Given the description of an element on the screen output the (x, y) to click on. 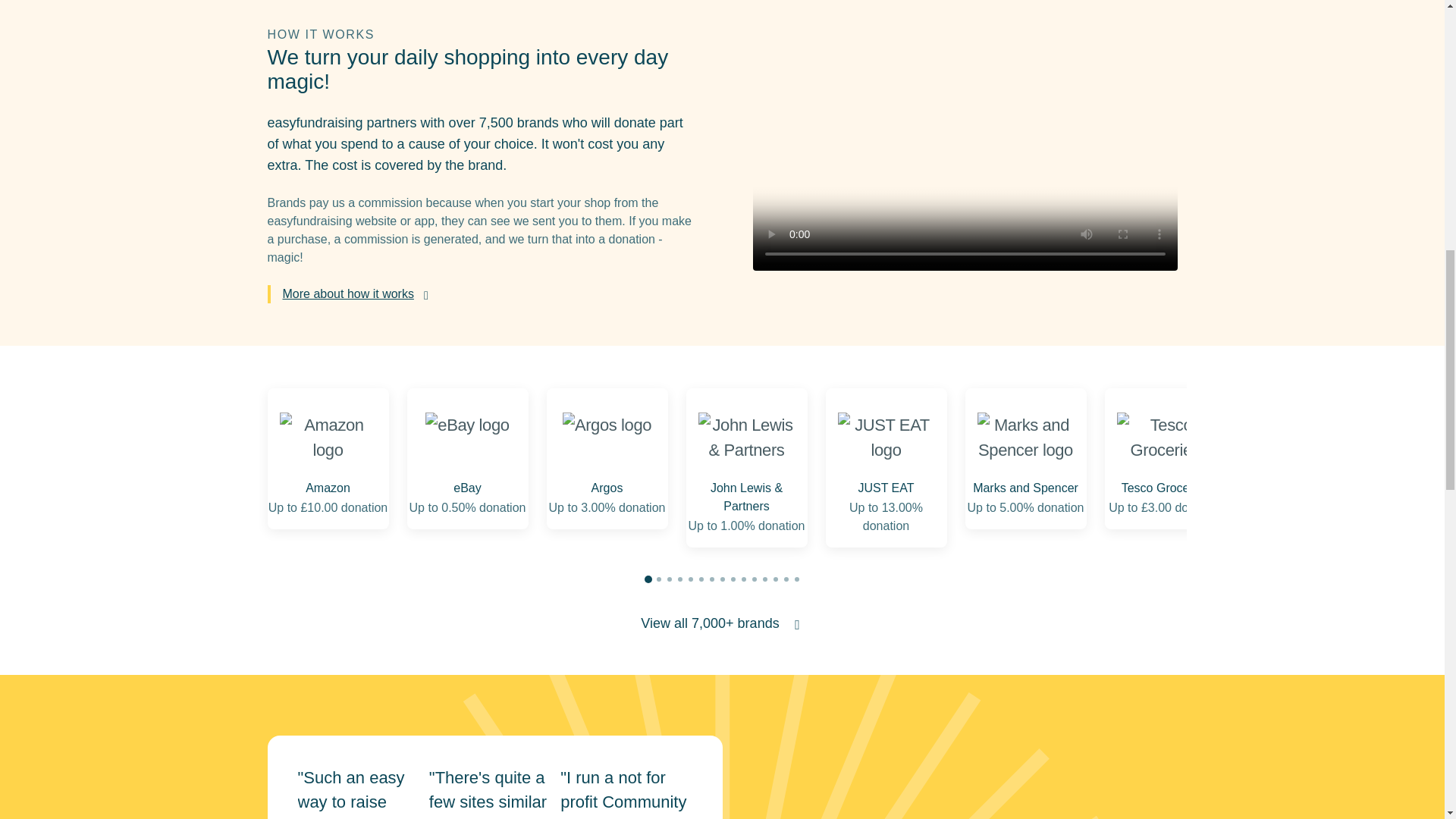
Argos (606, 436)
Marks and Spencer (1025, 436)
JUST EAT (885, 436)
More about how it works (356, 293)
eBay (466, 436)
Tesco Groceries (1164, 436)
Amazon (327, 436)
